Given the description of an element on the screen output the (x, y) to click on. 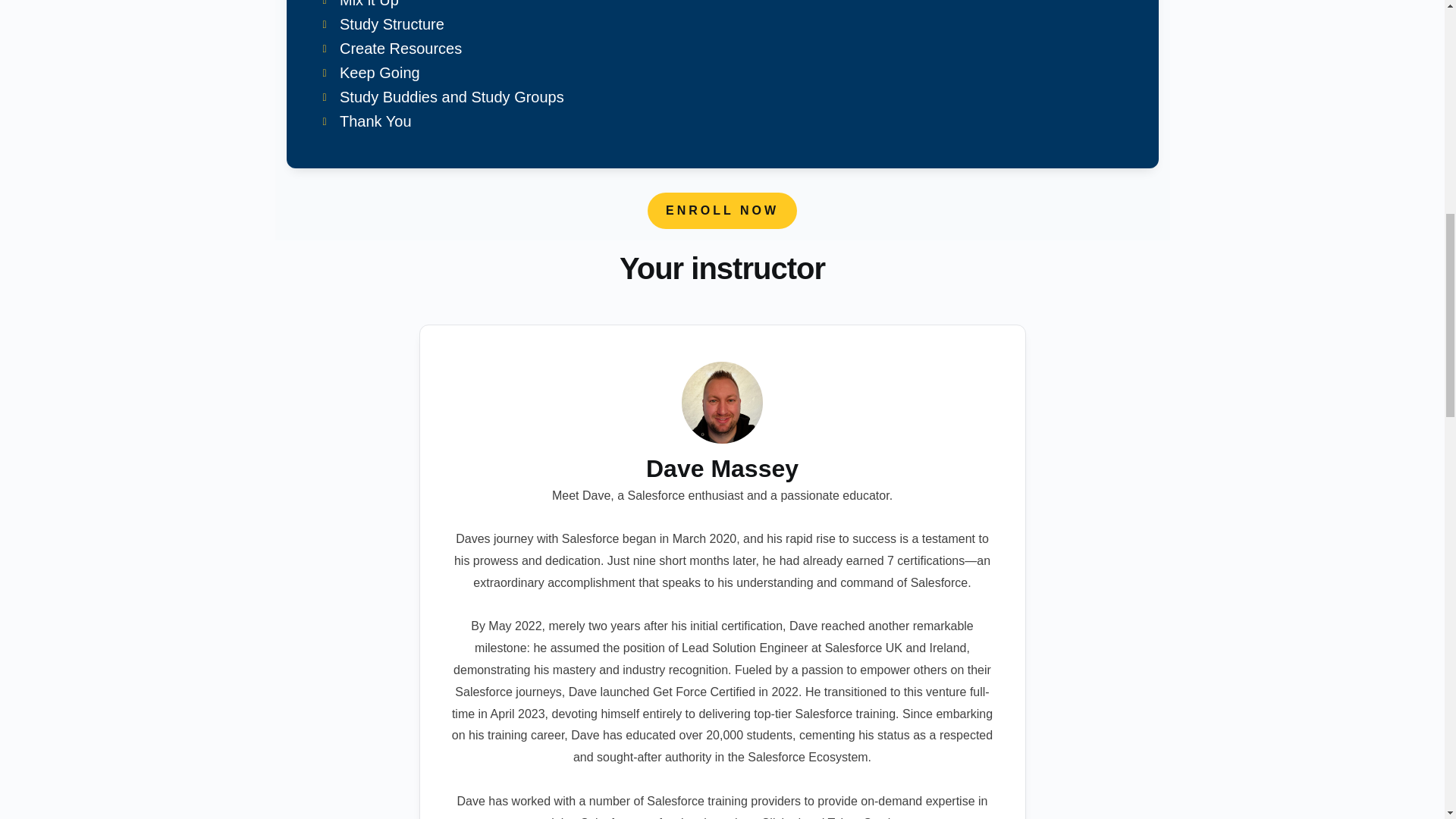
ENROLL NOW (721, 210)
Headshot - Get Force Certified - Get Force Certified (721, 402)
